Given the description of an element on the screen output the (x, y) to click on. 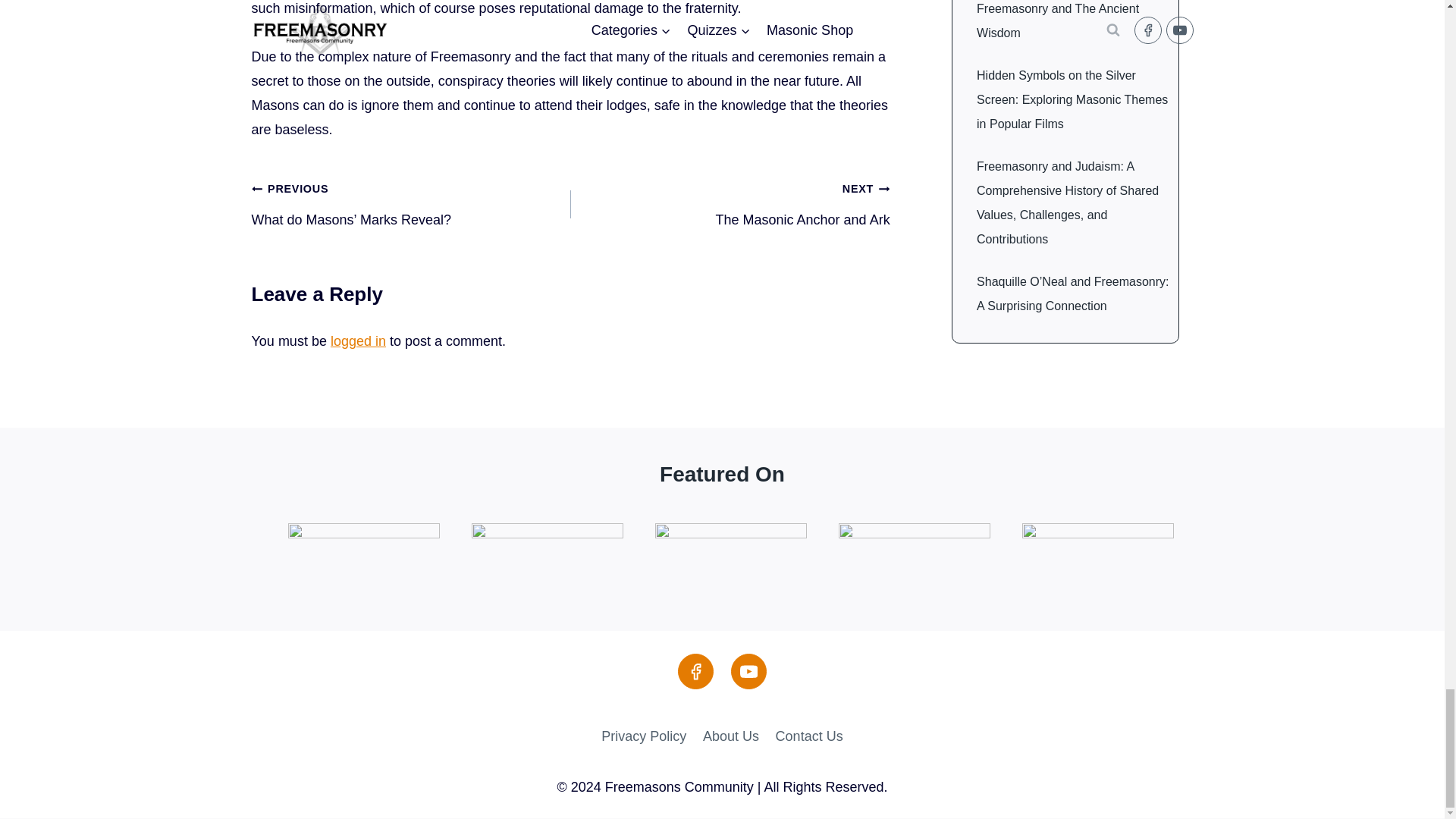
logged in (729, 203)
